Given the description of an element on the screen output the (x, y) to click on. 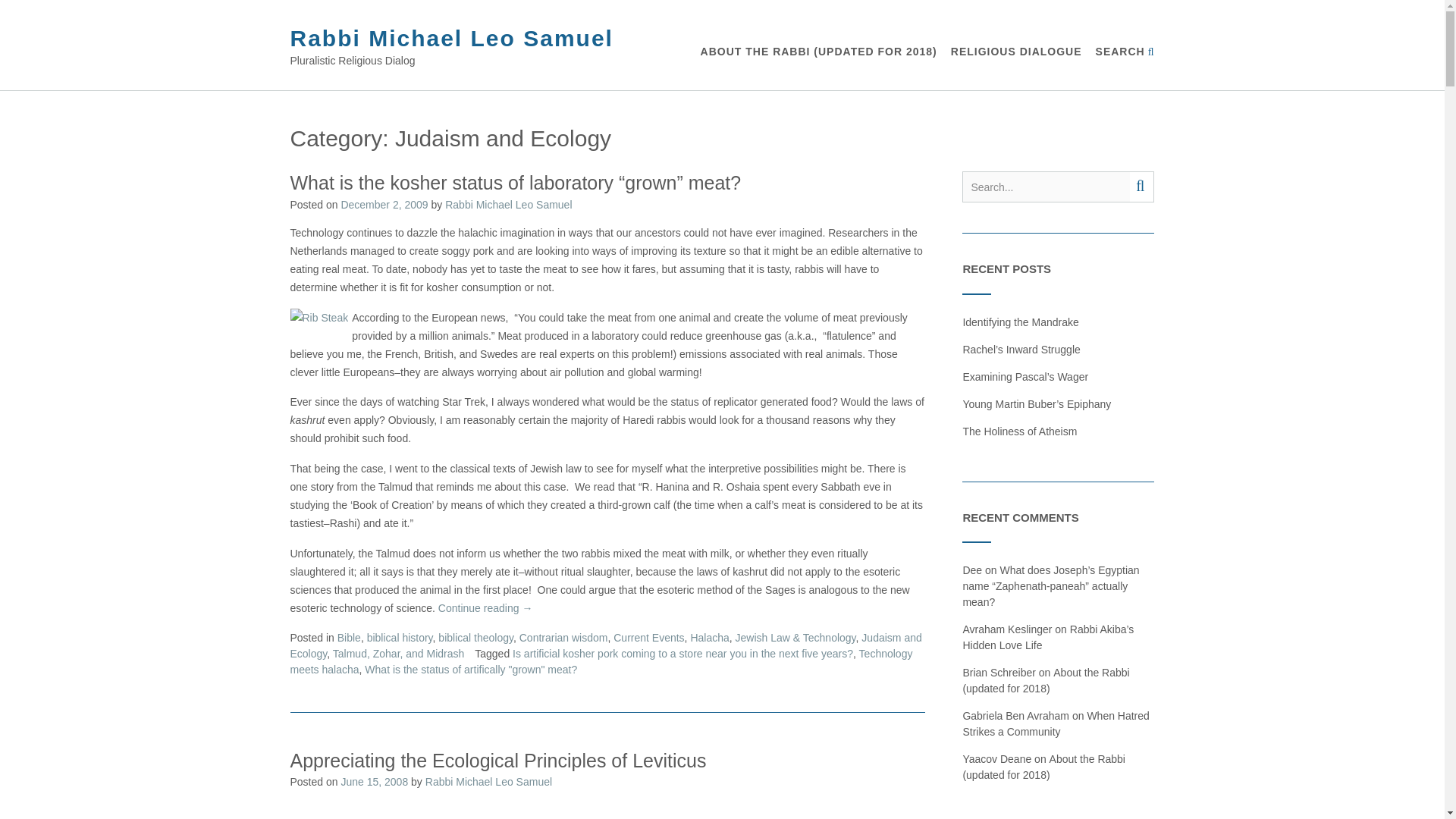
June 15, 2008 (373, 781)
SEARCH (1125, 51)
Halacha (709, 637)
Rabbi Michael Leo Samuel (508, 204)
Technology meets halacha (600, 661)
Judaism and Ecology (605, 645)
Current Events (648, 637)
RELIGIOUS DIALOGUE (1015, 51)
